Given the description of an element on the screen output the (x, y) to click on. 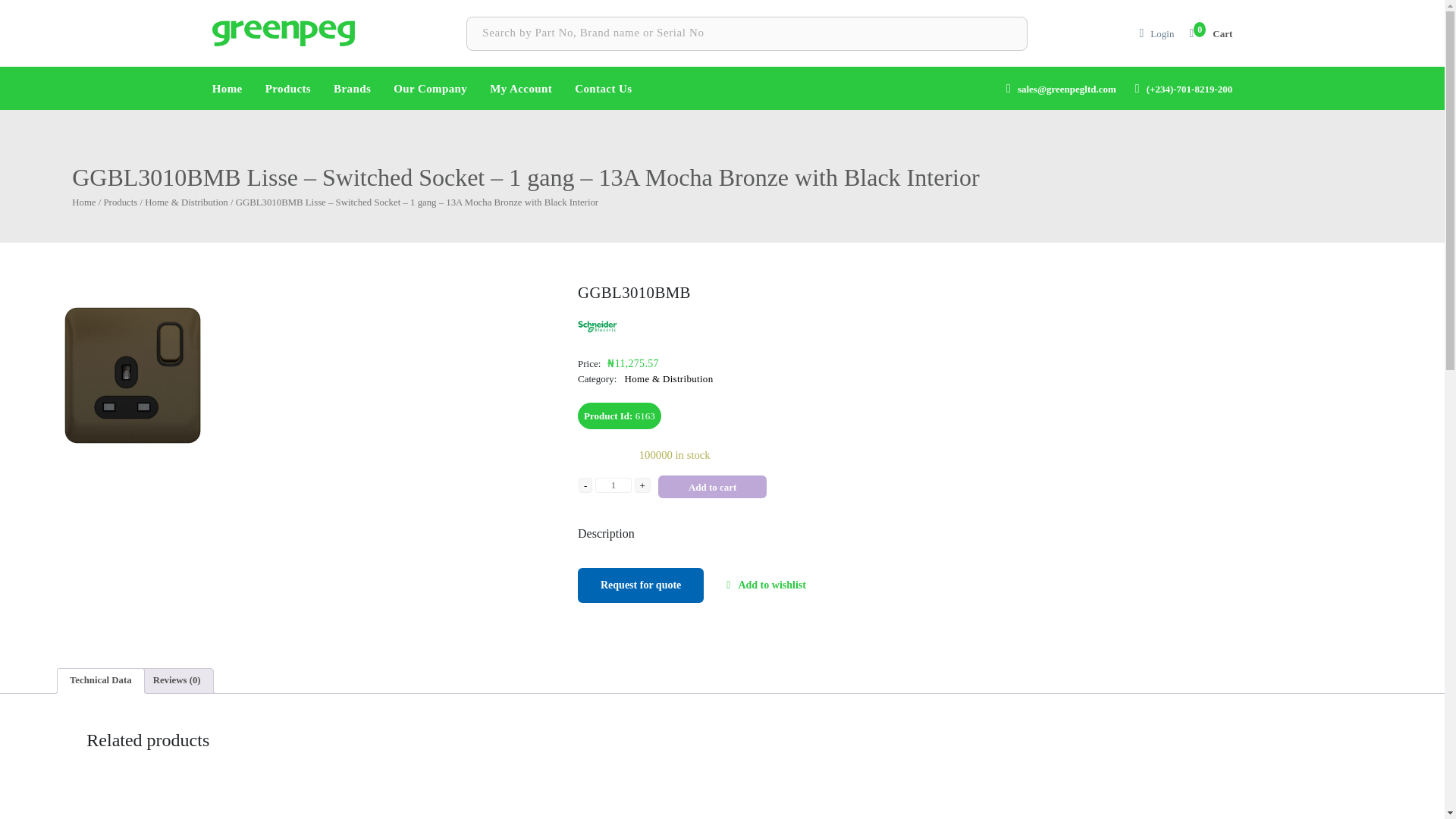
0 Cart (1210, 33)
Qty (612, 485)
Login (1161, 33)
1 (612, 485)
